Given the description of an element on the screen output the (x, y) to click on. 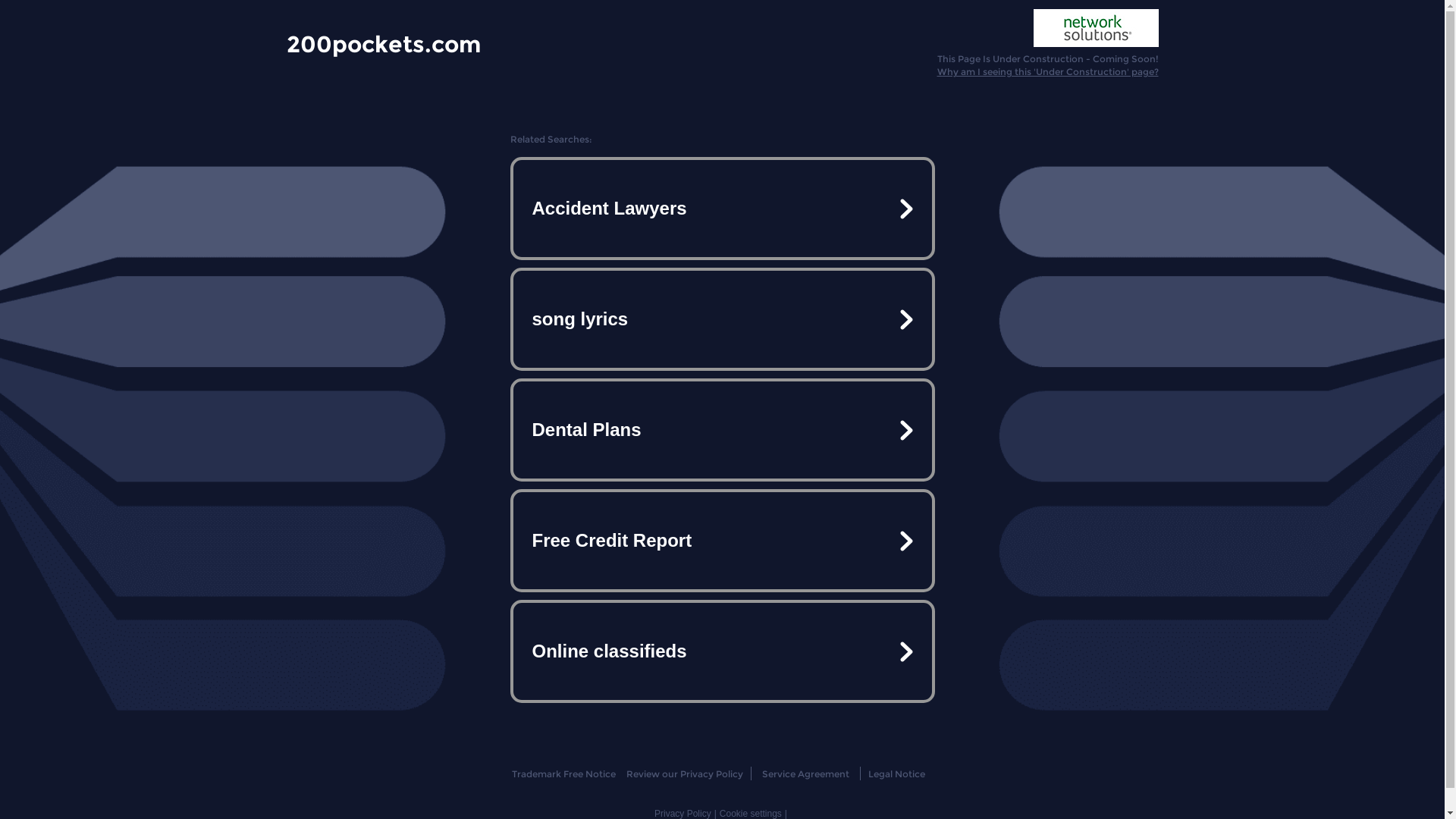
Online classifieds Element type: text (721, 650)
Dental Plans Element type: text (721, 429)
Service Agreement Element type: text (805, 773)
200pockets.com Element type: text (383, 43)
Trademark Free Notice Element type: text (563, 773)
Why am I seeing this 'Under Construction' page? Element type: text (1047, 71)
Legal Notice Element type: text (896, 773)
Review our Privacy Policy Element type: text (684, 773)
Accident Lawyers Element type: text (721, 208)
Free Credit Report Element type: text (721, 540)
song lyrics Element type: text (721, 318)
